Given the description of an element on the screen output the (x, y) to click on. 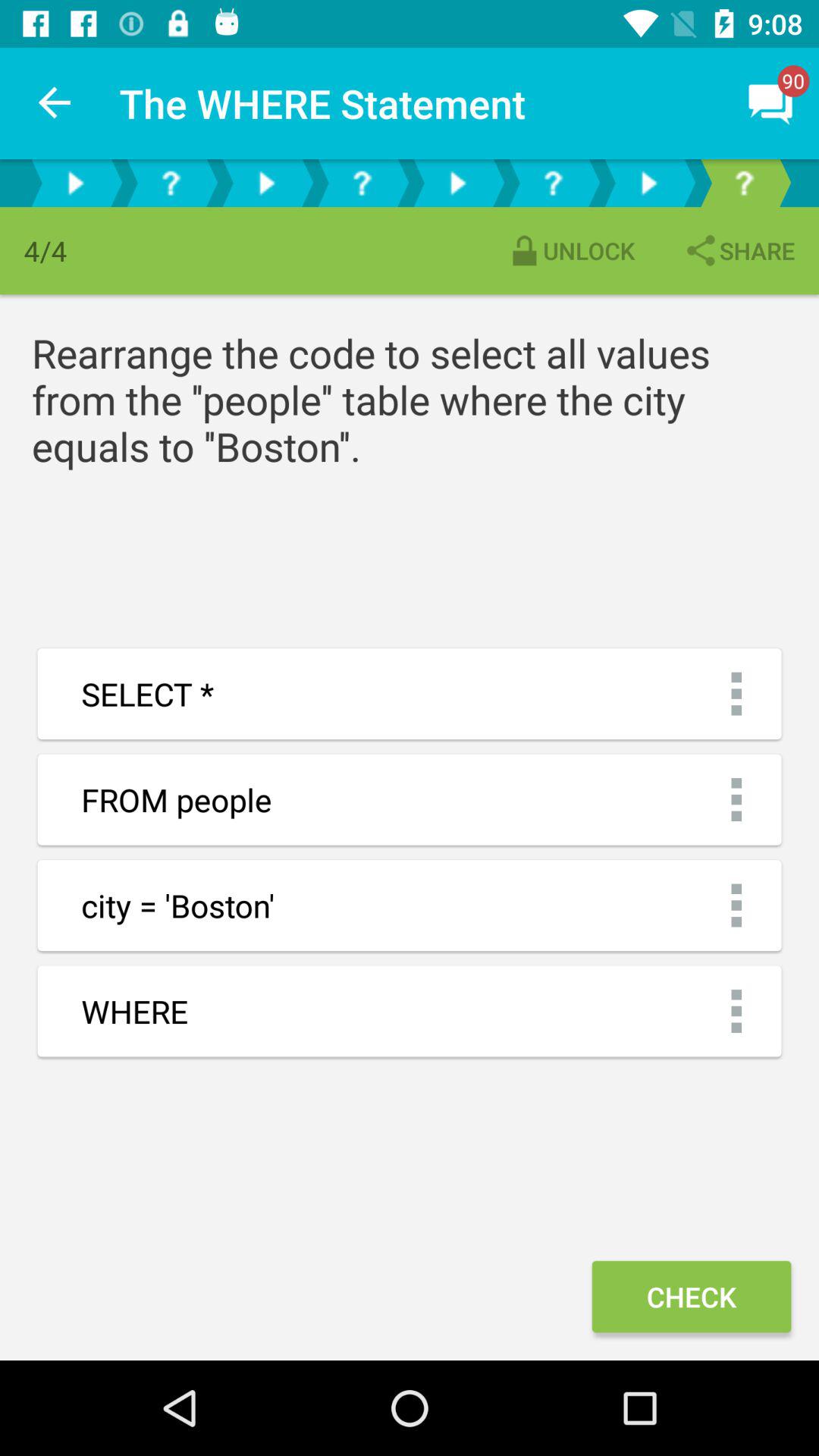
turn on icon above the rearrange the code item (570, 250)
